Given the description of an element on the screen output the (x, y) to click on. 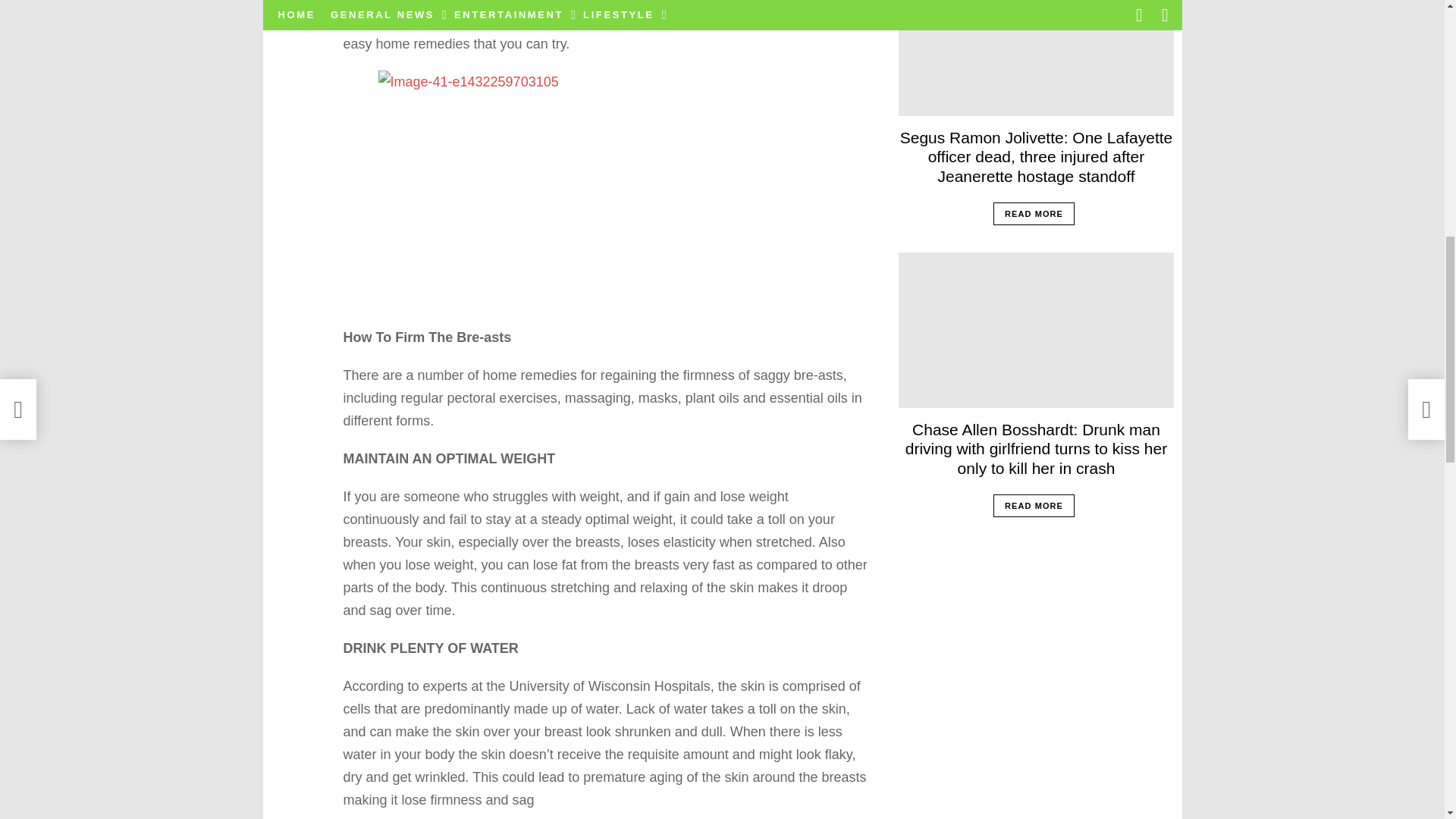
How to easily prevent sagging BR-EASTS Naturally 1 (604, 190)
